Given the description of an element on the screen output the (x, y) to click on. 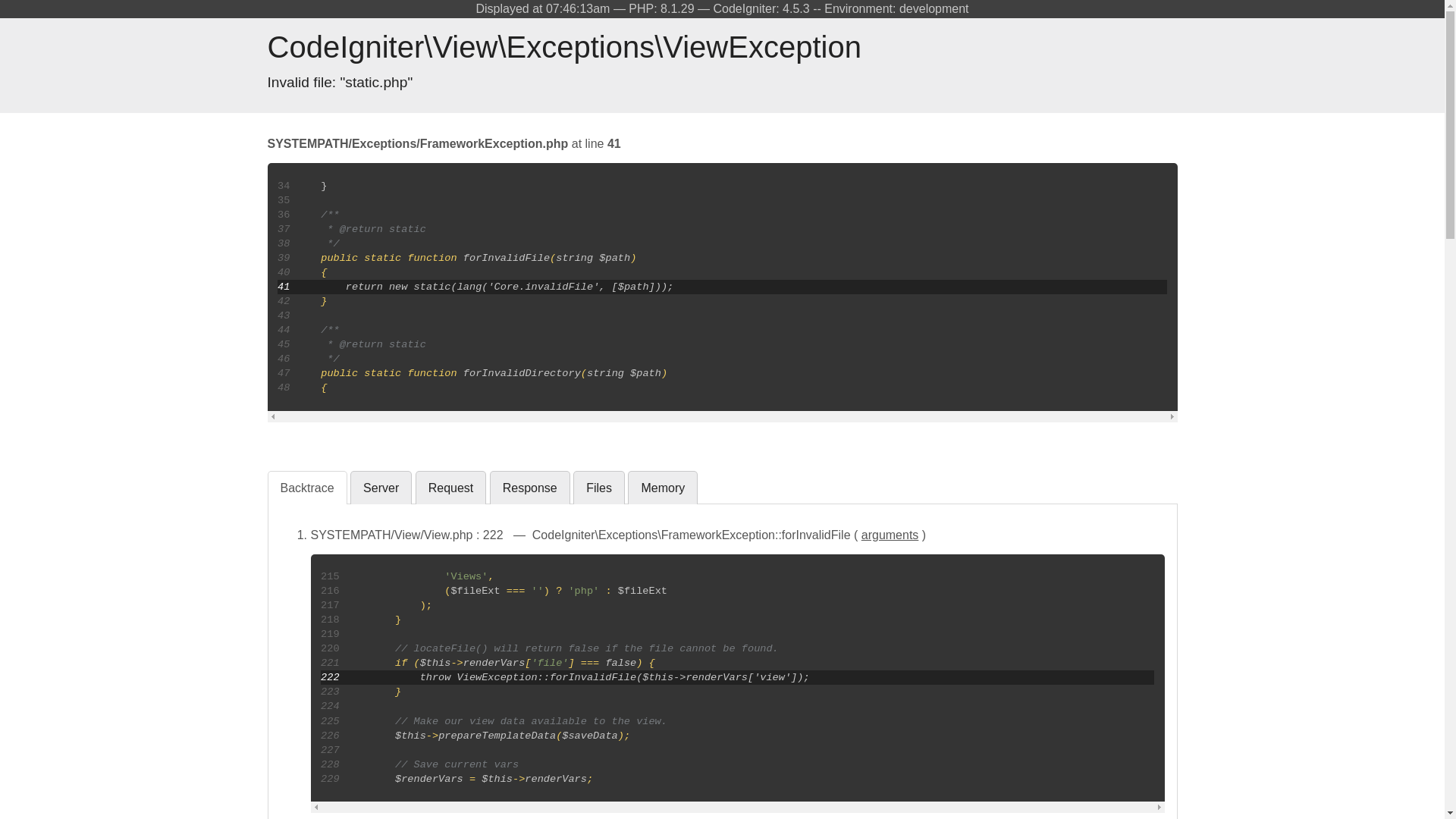
Response (529, 487)
Request (450, 487)
Memory (662, 487)
Server (381, 487)
Backtrace (306, 487)
arguments (889, 534)
Files (598, 487)
